Given the description of an element on the screen output the (x, y) to click on. 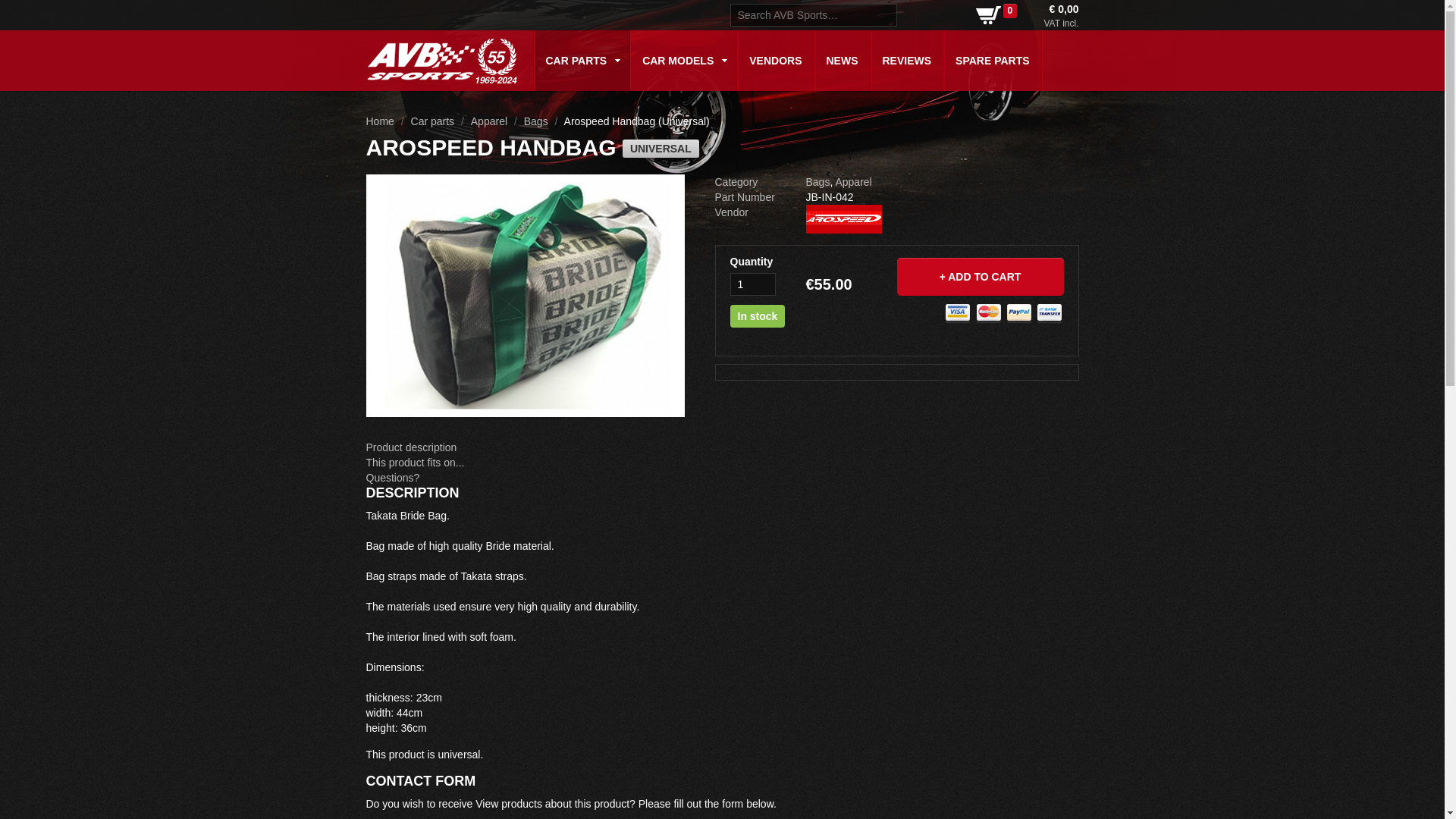
1 (751, 283)
CAR MODELS (683, 60)
CAR PARTS (581, 60)
